Given the description of an element on the screen output the (x, y) to click on. 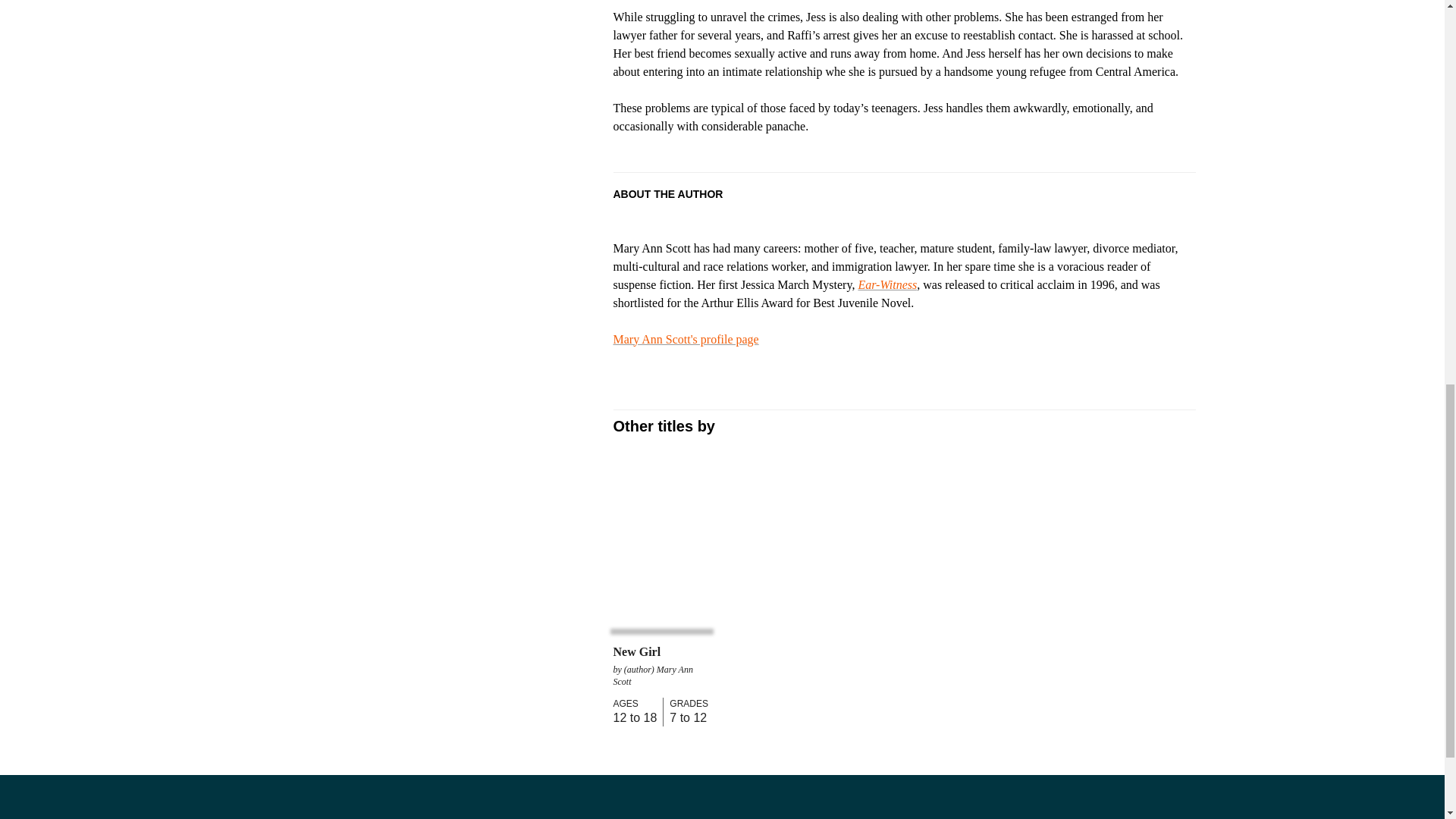
Recommended Ages (634, 703)
Recommended Grades (685, 703)
Ear-Witness (887, 284)
Mary Ann Scott's profile page (685, 338)
Visit us on Facebook (23, 809)
